Given the description of an element on the screen output the (x, y) to click on. 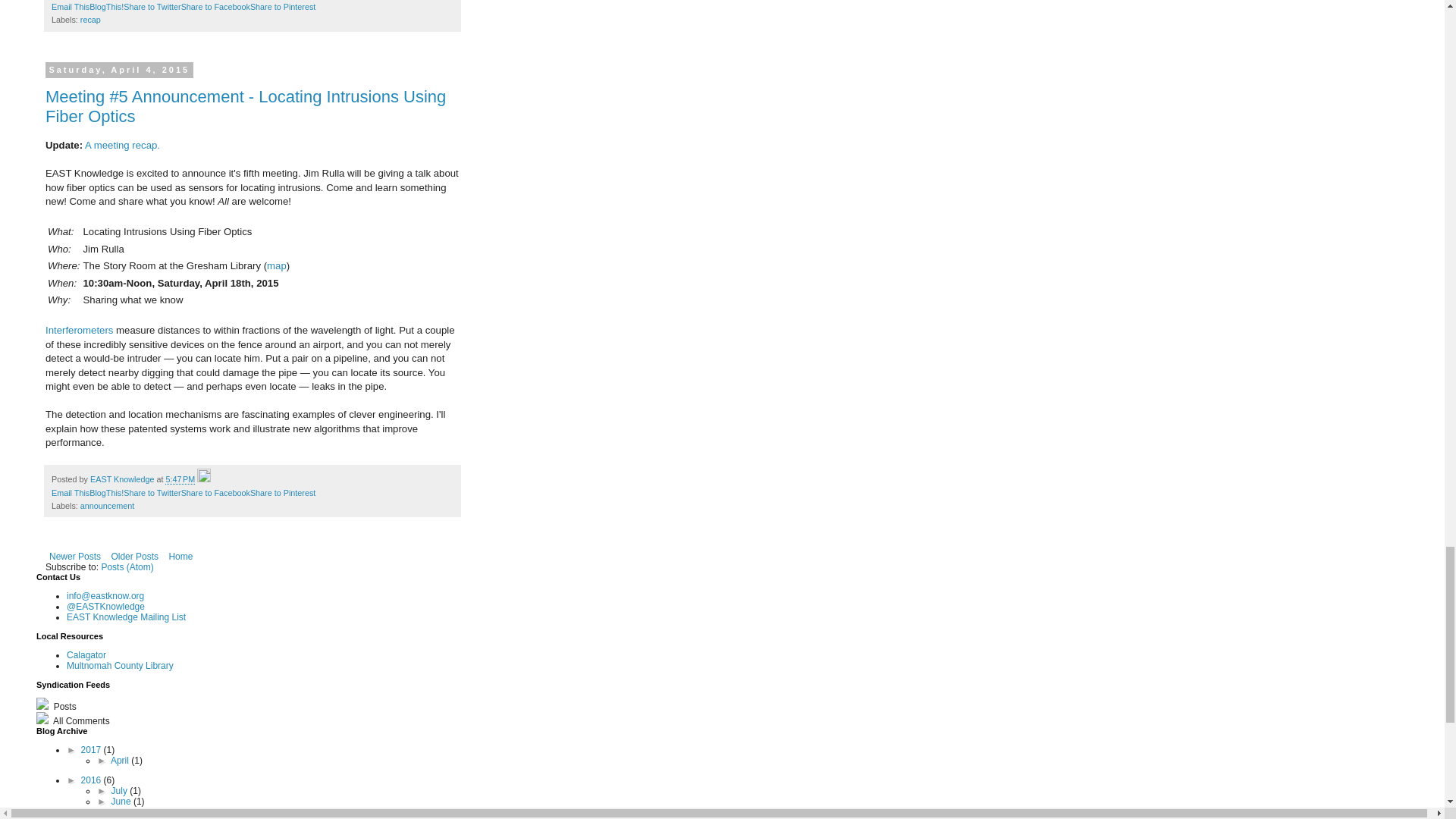
Edit Post (203, 479)
Share to Twitter (151, 6)
Share to Pinterest (282, 6)
map (276, 265)
EAST Knowledge (122, 479)
A meeting recap. (122, 144)
Email This (69, 6)
BlogThis! (105, 492)
Share to Facebook (215, 6)
BlogThis! (105, 6)
BlogThis! (105, 6)
Email This (69, 492)
Interferometers (79, 329)
permanent link (180, 479)
